Given the description of an element on the screen output the (x, y) to click on. 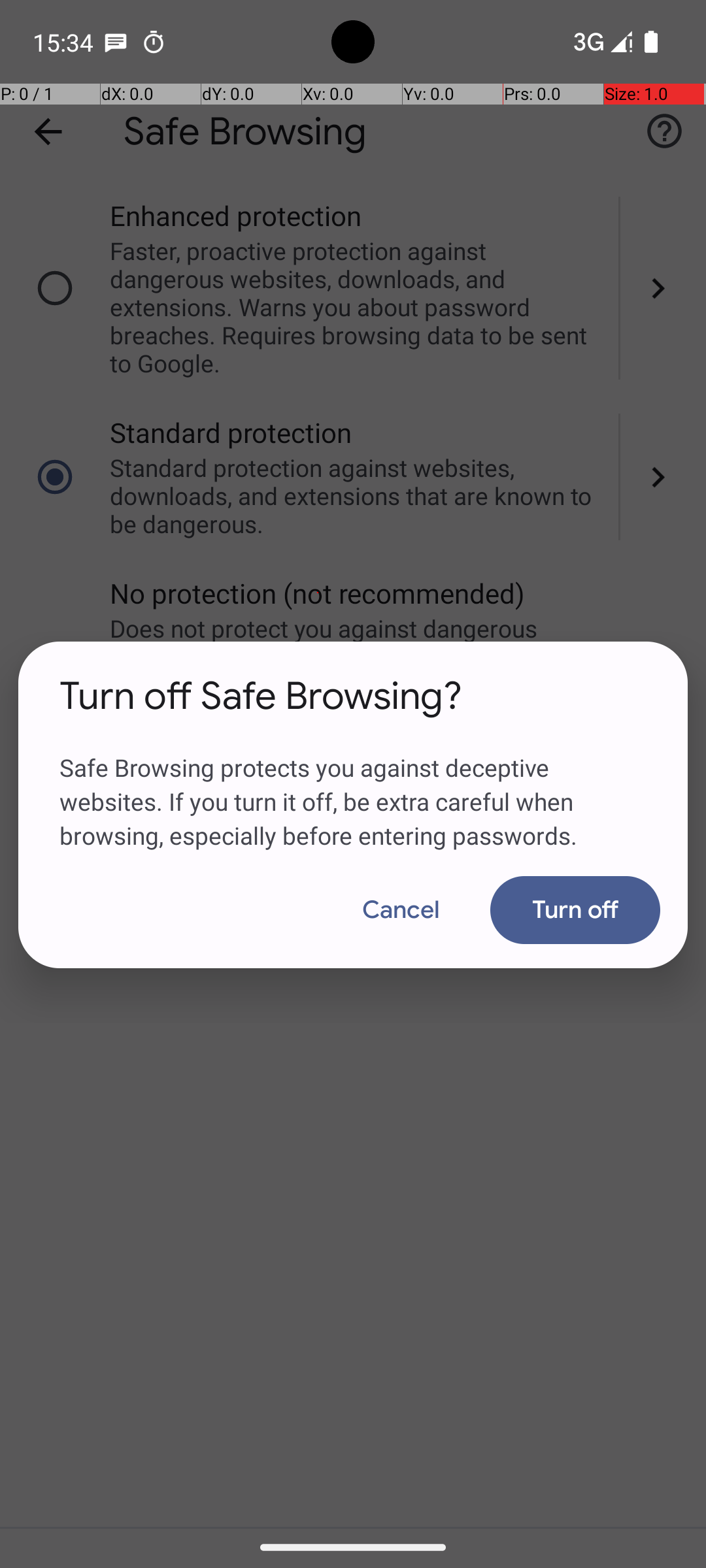
Turn off Safe Browsing? Element type: android.widget.TextView (260, 695)
Safe Browsing protects you against deceptive websites. If you turn it off, be extra careful when browsing, especially before entering passwords. Element type: android.widget.TextView (352, 785)
Turn off Element type: android.widget.Button (575, 909)
